Given the description of an element on the screen output the (x, y) to click on. 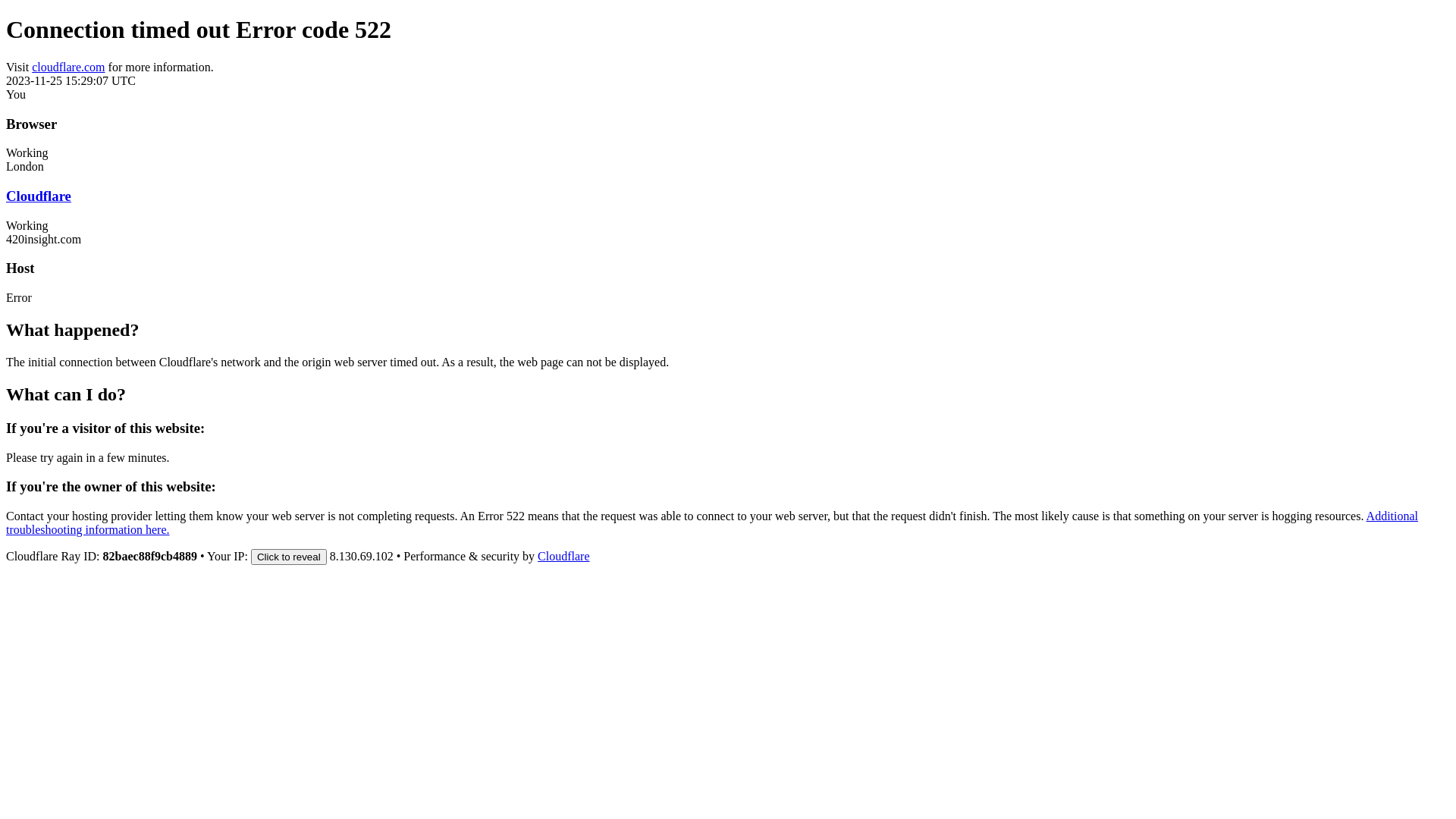
Additional troubleshooting information here. Element type: text (712, 522)
Click to reveal Element type: text (288, 556)
Cloudflare Element type: text (563, 555)
cloudflare.com Element type: text (67, 66)
Cloudflare Element type: text (38, 195)
